Given the description of an element on the screen output the (x, y) to click on. 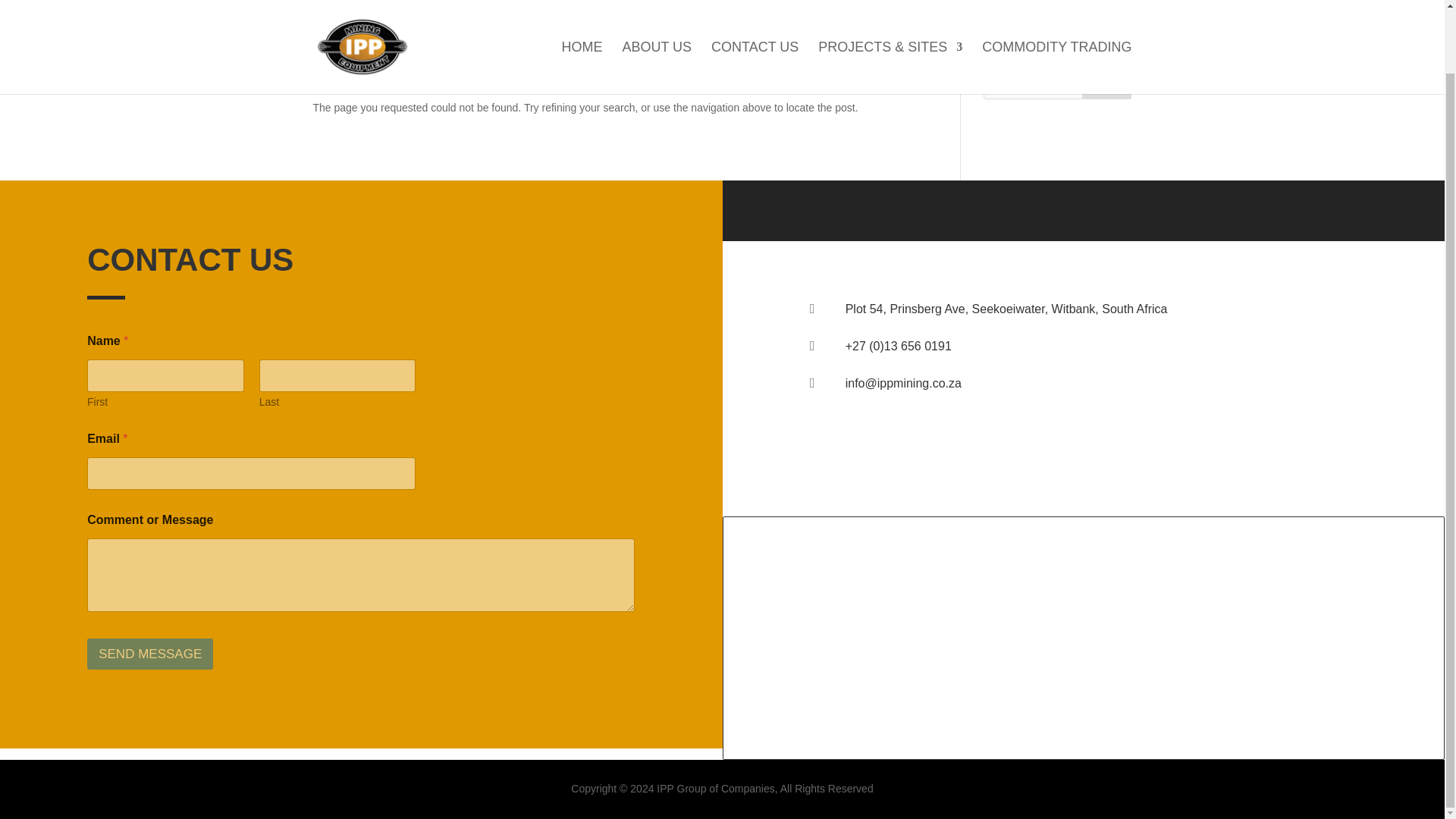
HOME (582, 12)
SEND MESSAGE (149, 653)
ABOUT US (656, 12)
COMMODITY TRADING (1056, 12)
CONTACT US (754, 12)
Search (1106, 83)
